Given the description of an element on the screen output the (x, y) to click on. 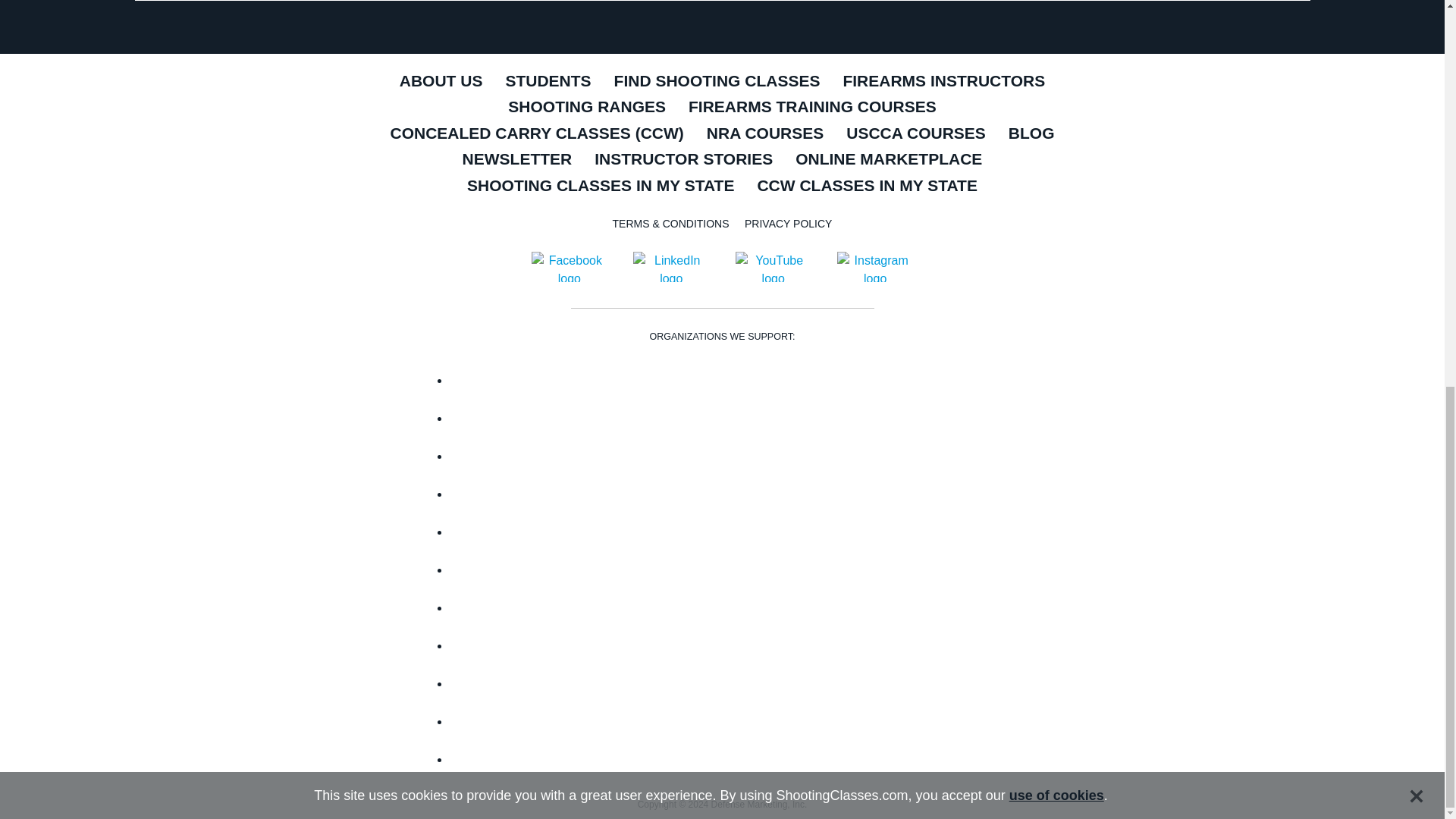
FIREARMS INSTRUCTORS (944, 81)
ABOUT US (441, 81)
STUDENTS (547, 81)
FIND SHOOTING CLASSES (716, 81)
SHOOTING RANGES (586, 108)
FIREARMS TRAINING COURSES (812, 108)
